Given the description of an element on the screen output the (x, y) to click on. 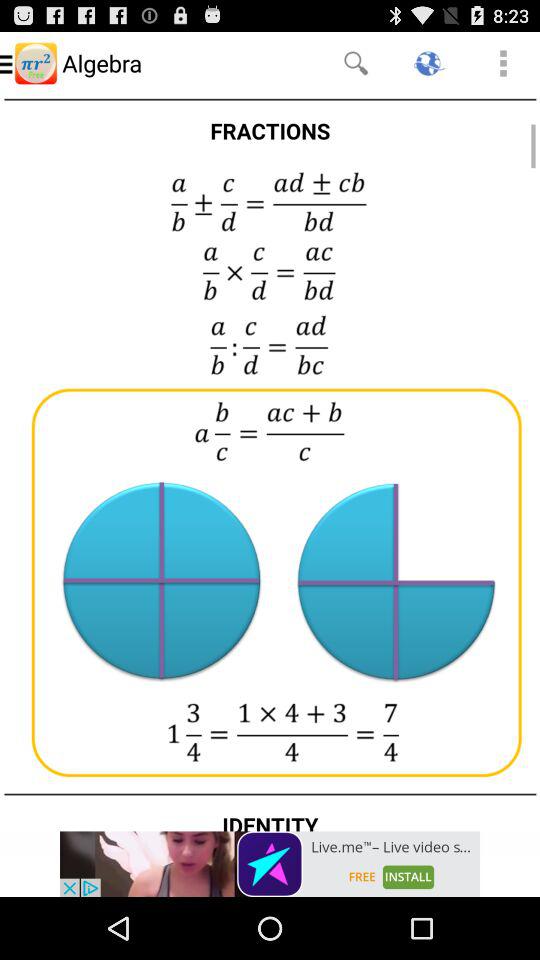
click advertisement banner to install live.me app (270, 864)
